Given the description of an element on the screen output the (x, y) to click on. 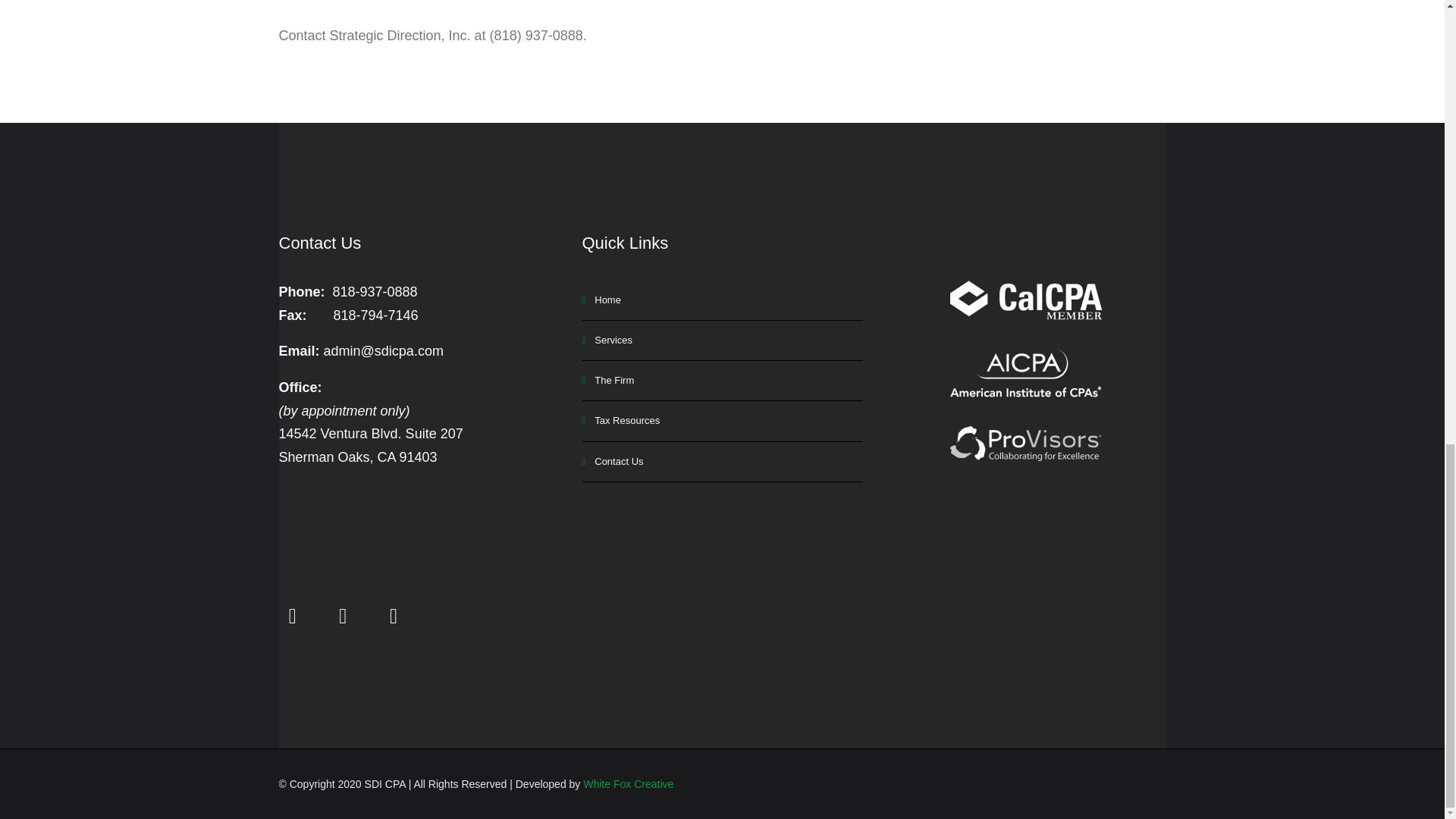
818-937-0888 (375, 291)
Home (722, 300)
Services (722, 341)
Tax Resources (722, 421)
White Fox Creative (627, 784)
The Firm (722, 381)
Contact Us (722, 462)
